Given the description of an element on the screen output the (x, y) to click on. 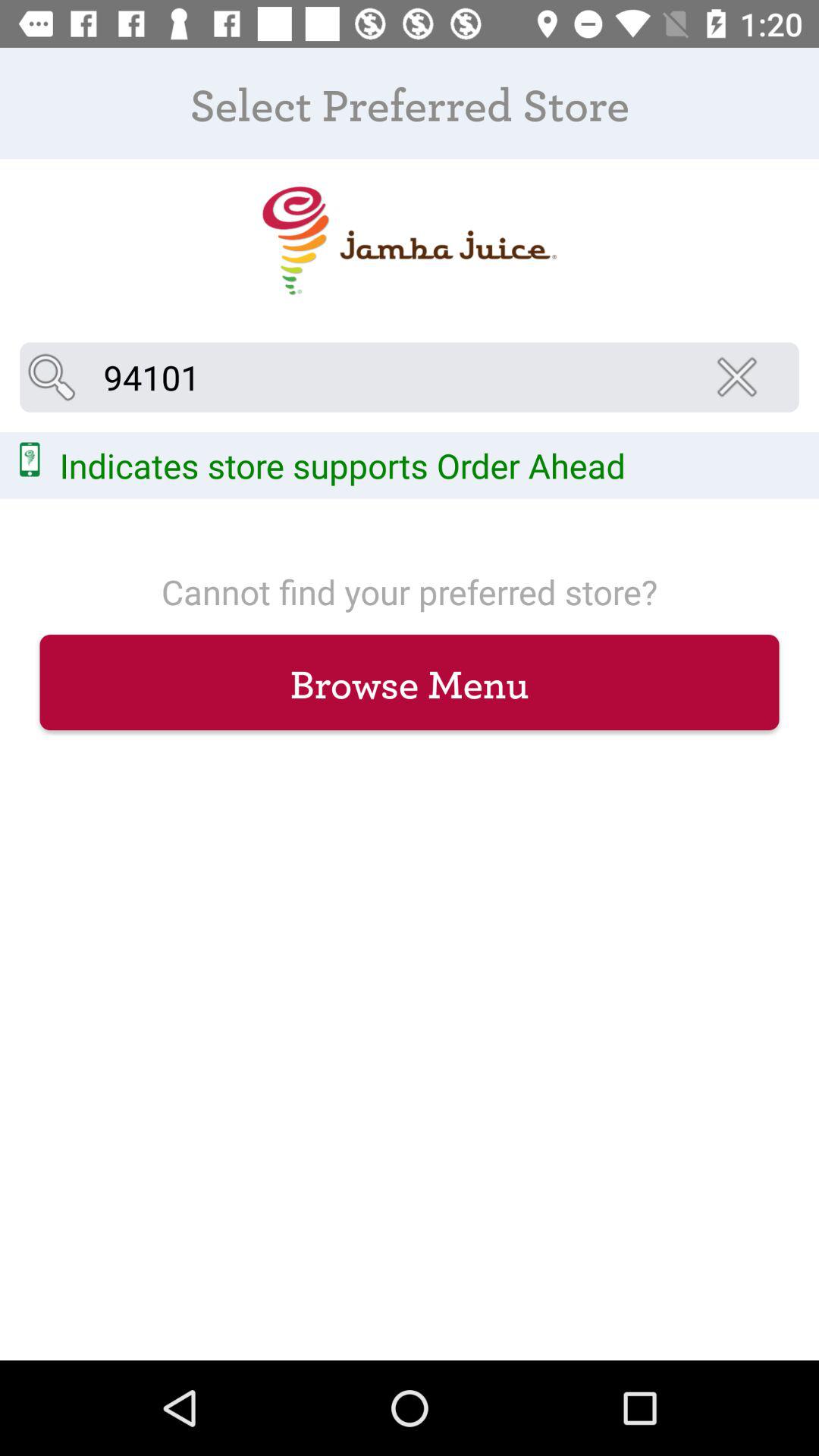
select browse menu (409, 682)
